Given the description of an element on the screen output the (x, y) to click on. 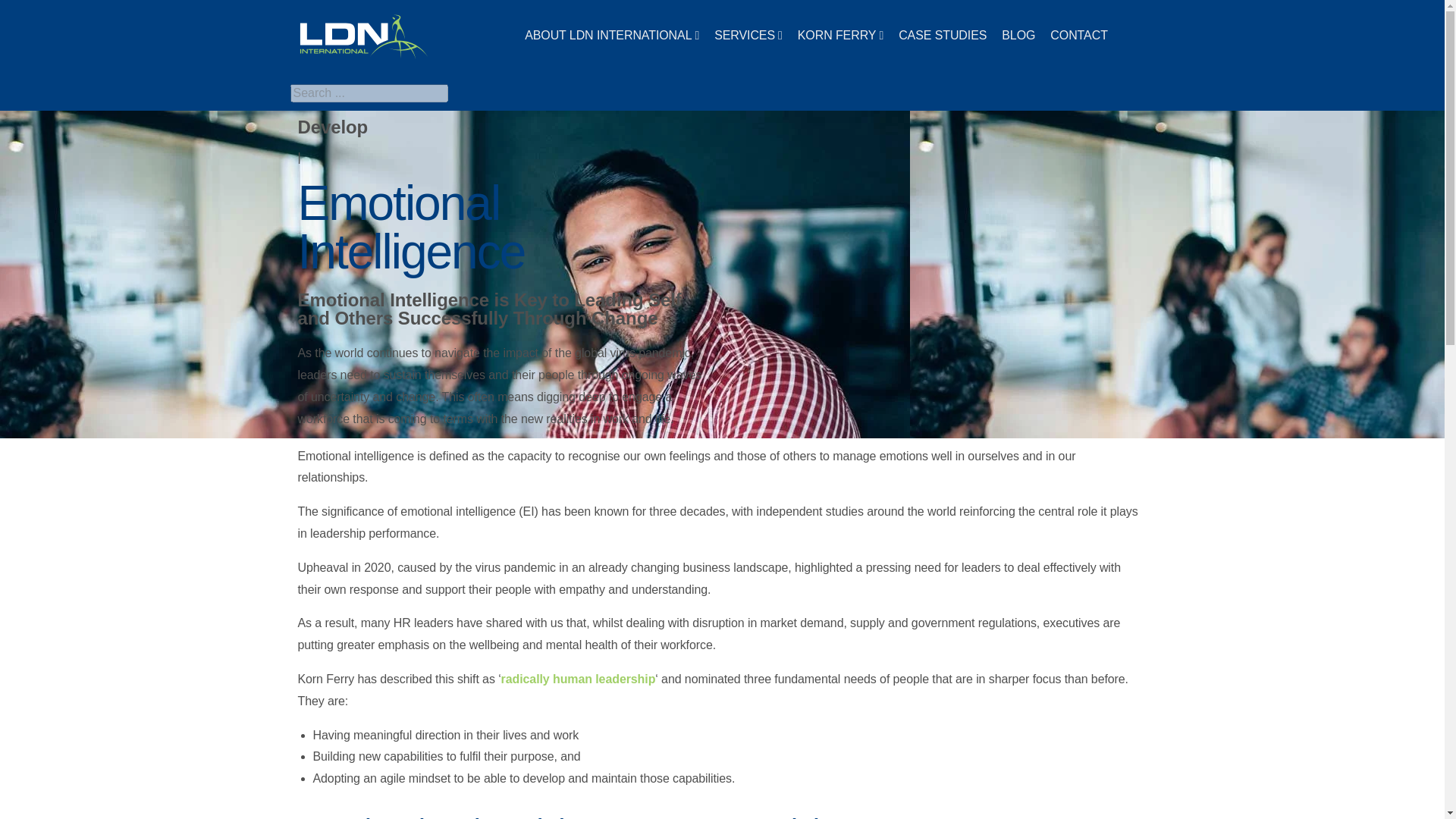
SERVICES (748, 35)
CASE STUDIES (942, 35)
ABOUT LDN INTERNATIONAL (611, 35)
CONTACT (1077, 35)
KORN FERRY (840, 35)
BLOG (1018, 35)
